Given the description of an element on the screen output the (x, y) to click on. 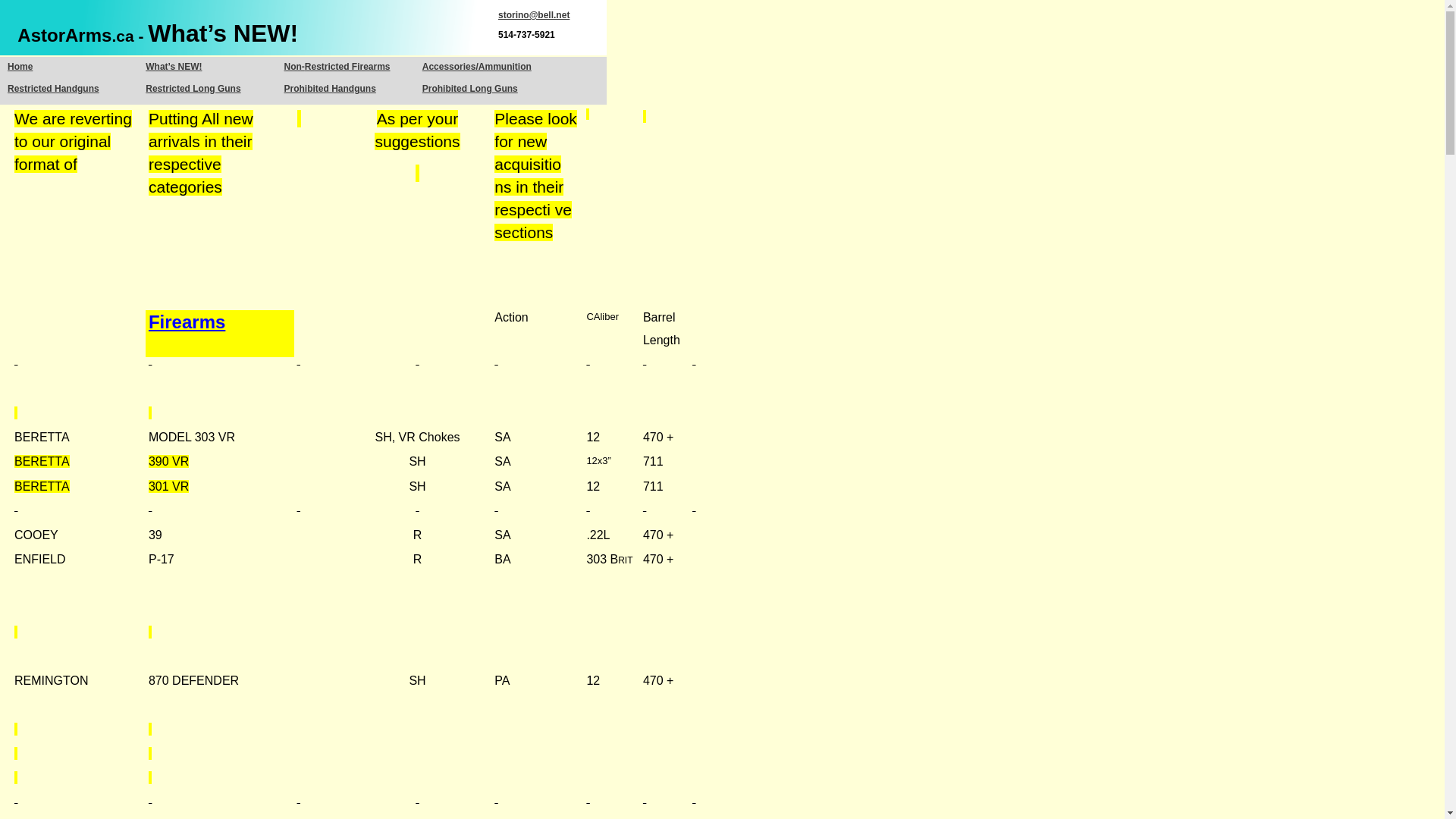
Restricted Handguns Element type: text (53, 88)
Prohibited Handguns Element type: text (329, 88)
Non-Restricted Firearms Element type: text (336, 66)
Restricted Long Guns Element type: text (192, 88)
storino@bell.net Element type: text (533, 14)
Accessories/Ammunition Element type: text (476, 66)
Prohibited Long Guns Element type: text (469, 88)
Home Element type: text (19, 66)
